Given the description of an element on the screen output the (x, y) to click on. 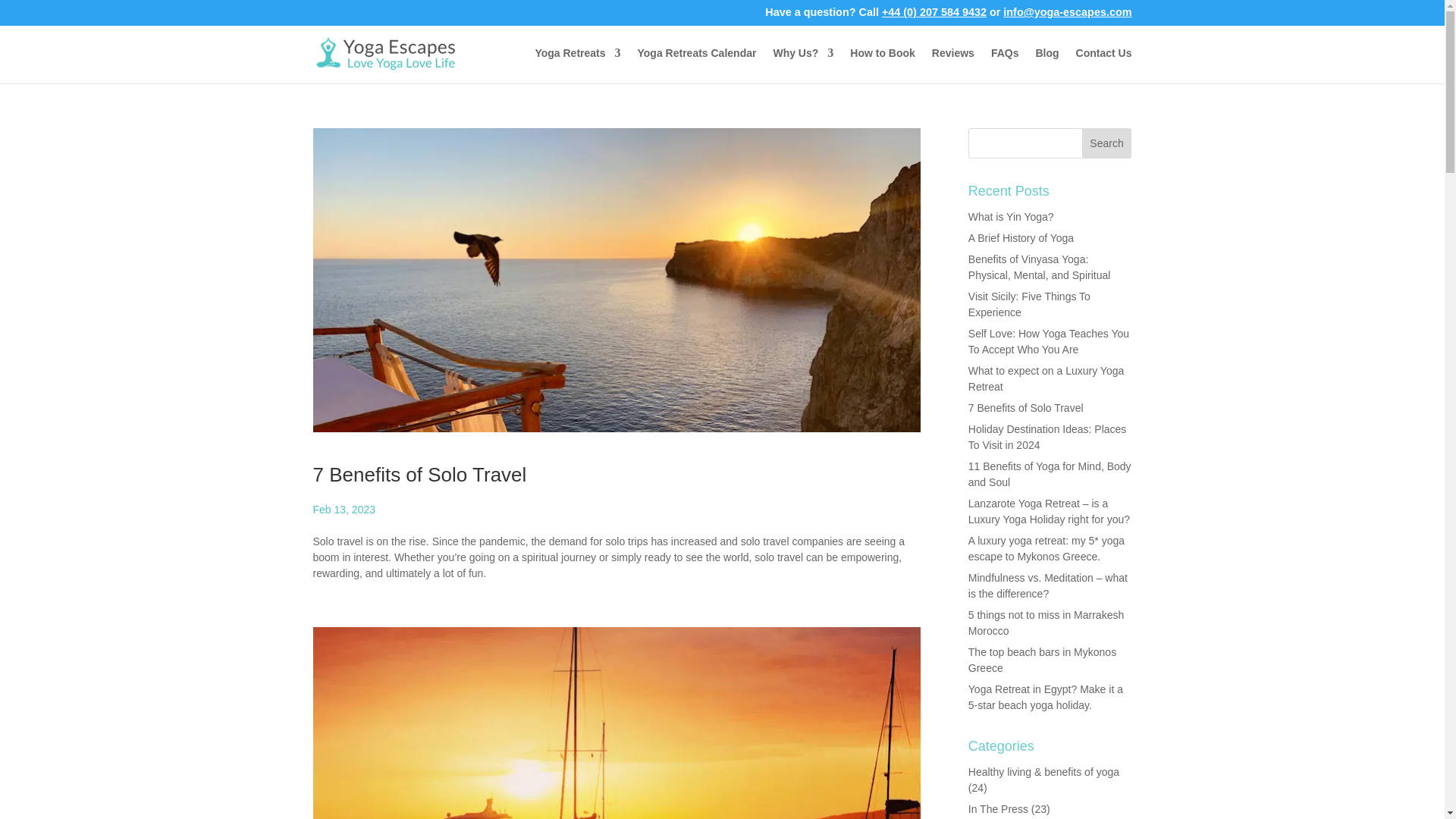
Contact Us (1103, 65)
How to Book (882, 65)
Yoga Retreats (577, 65)
Why Us? (802, 65)
7 Benefits of Solo Travel (419, 474)
Reviews (952, 65)
Search (1106, 142)
Yoga Retreats Calendar (697, 65)
